Given the description of an element on the screen output the (x, y) to click on. 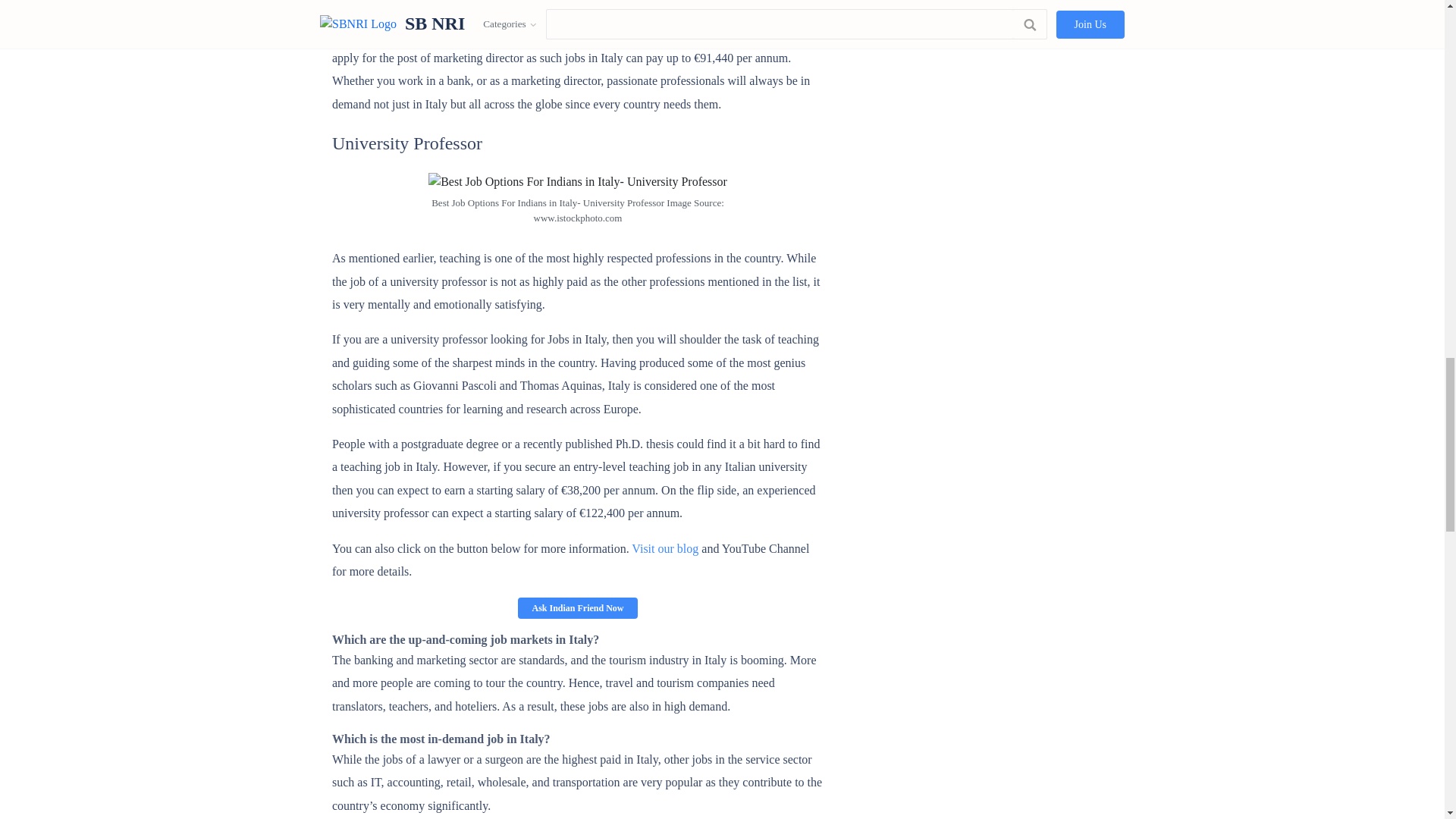
Tawk Open Chat (577, 608)
